Given the description of an element on the screen output the (x, y) to click on. 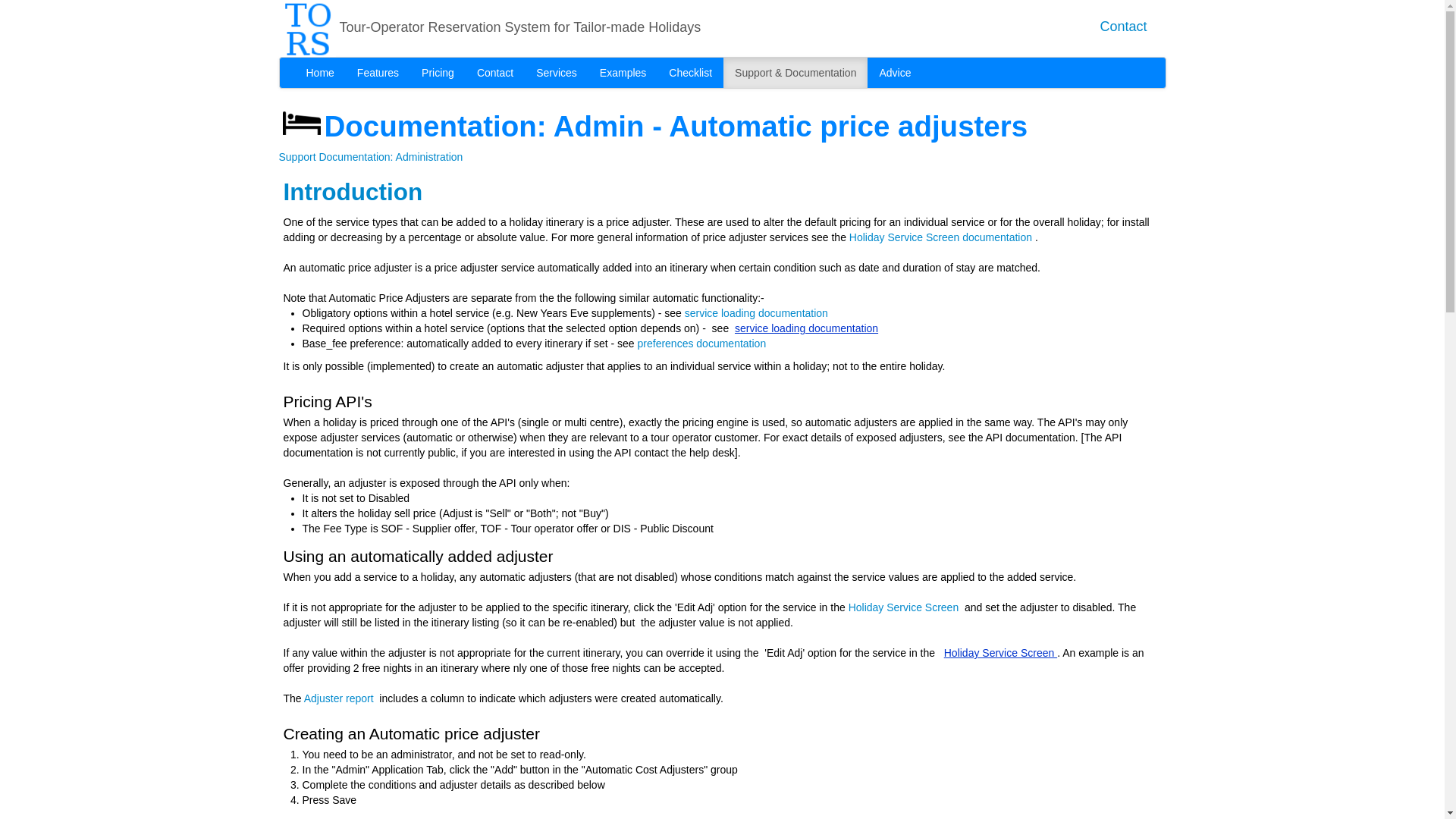
Example Reservation system API usage (623, 72)
Hotel Contracts Loading (556, 72)
Features (378, 72)
Services (556, 72)
Contact (1123, 26)
Pricing (437, 72)
Pay on departure, monthly contract, reservation system (437, 72)
Examples (623, 72)
Holiday Service Screen (1000, 653)
Documentation: Administration (390, 156)
Advice (894, 72)
service loading documentation (806, 328)
